Given the description of an element on the screen output the (x, y) to click on. 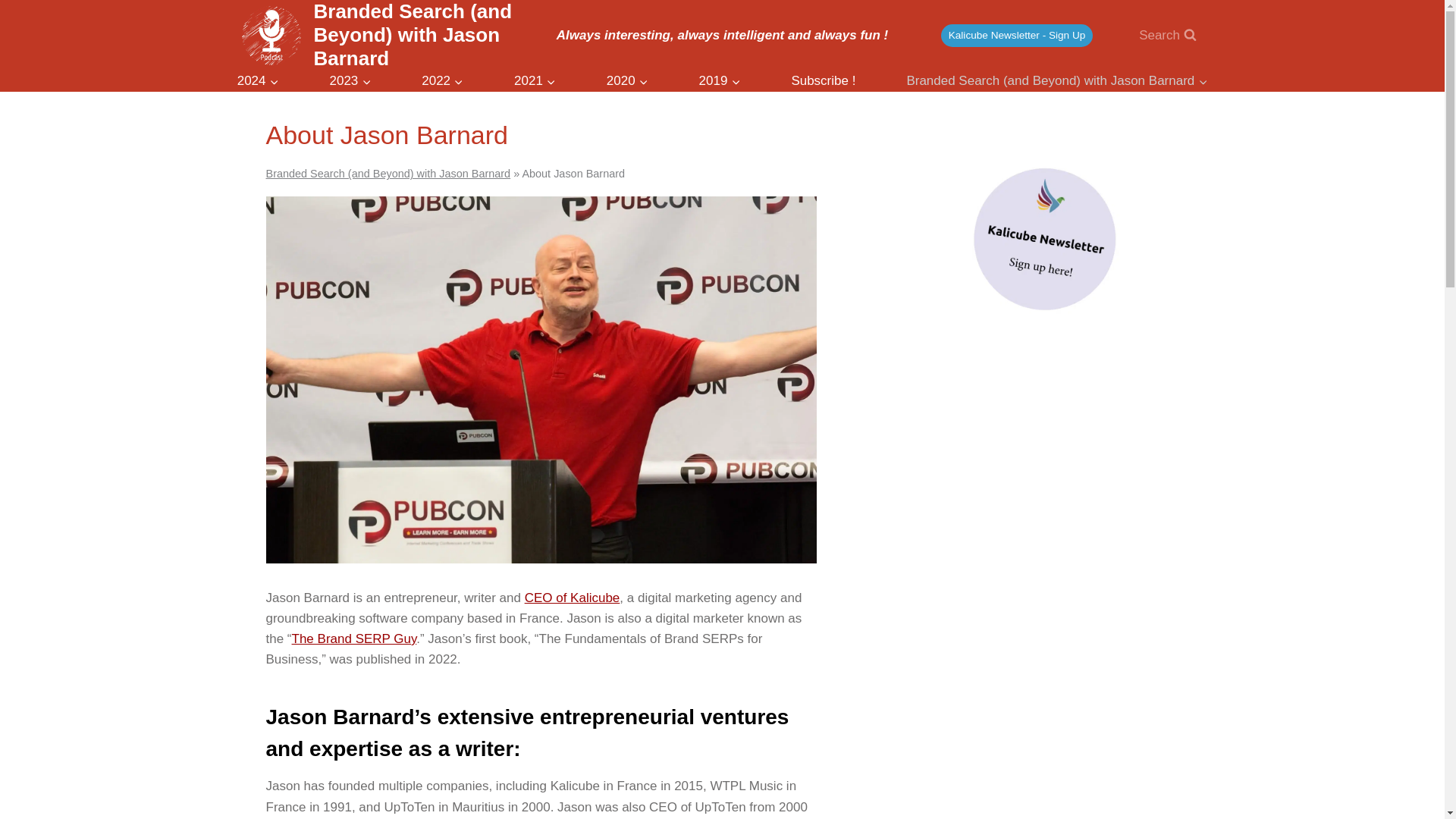
Kalicube Newsletter - Sign Up (1016, 35)
2022 (441, 80)
2024 (256, 80)
Search (1168, 35)
2023 (349, 80)
